Given the description of an element on the screen output the (x, y) to click on. 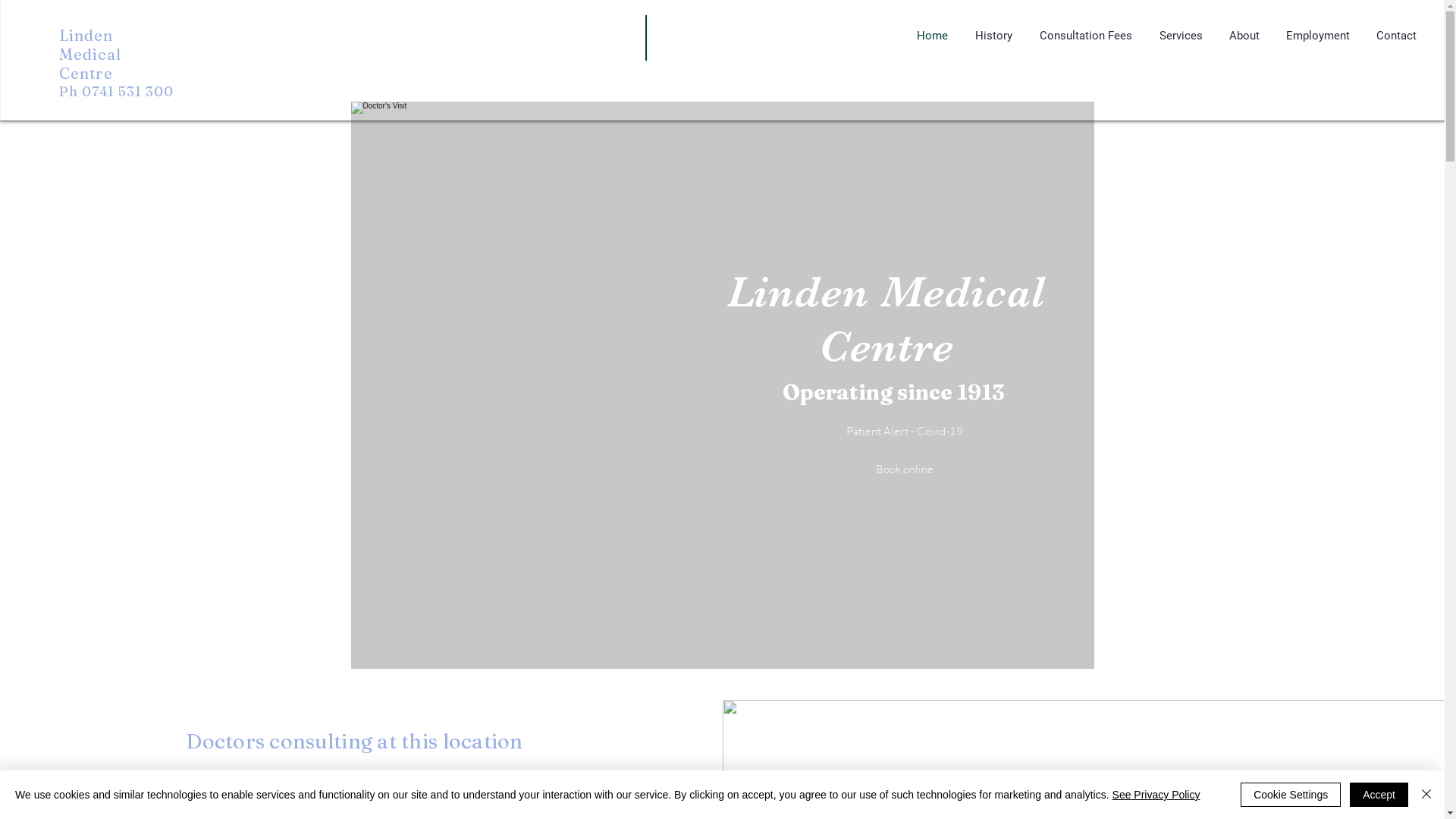
Accept Element type: text (1378, 794)
Patient Alert - Covid-19 Element type: text (904, 430)
Contact Element type: text (1395, 35)
Consultation Fees Element type: text (1085, 35)
Services Element type: text (1180, 35)
Employment Element type: text (1317, 35)
Cookie Settings Element type: text (1290, 794)
Linden Medical Centre Element type: text (90, 53)
About Element type: text (1243, 35)
Book online Element type: text (904, 468)
Home Element type: text (932, 35)
History Element type: text (993, 35)
See Privacy Policy Element type: text (1156, 794)
